Given the description of an element on the screen output the (x, y) to click on. 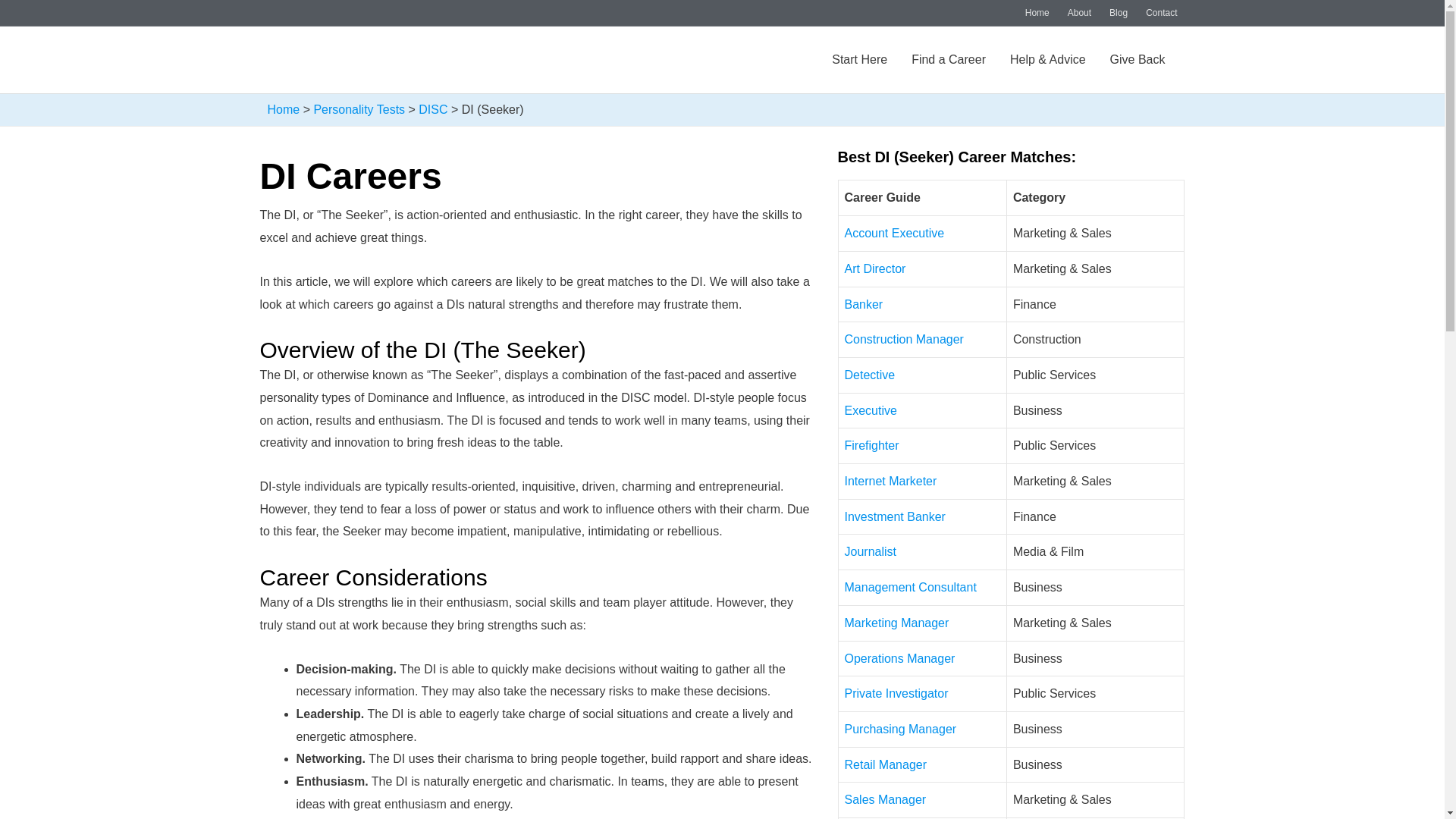
Home (1037, 12)
About (1079, 12)
Contact (1156, 12)
Start Here (859, 60)
Go to The Career Project. (282, 109)
Find a Career (948, 60)
Blog (1118, 12)
Go to Personality Tests. (358, 109)
Go to the DISC Personality Test archives. (432, 109)
